Given the description of an element on the screen output the (x, y) to click on. 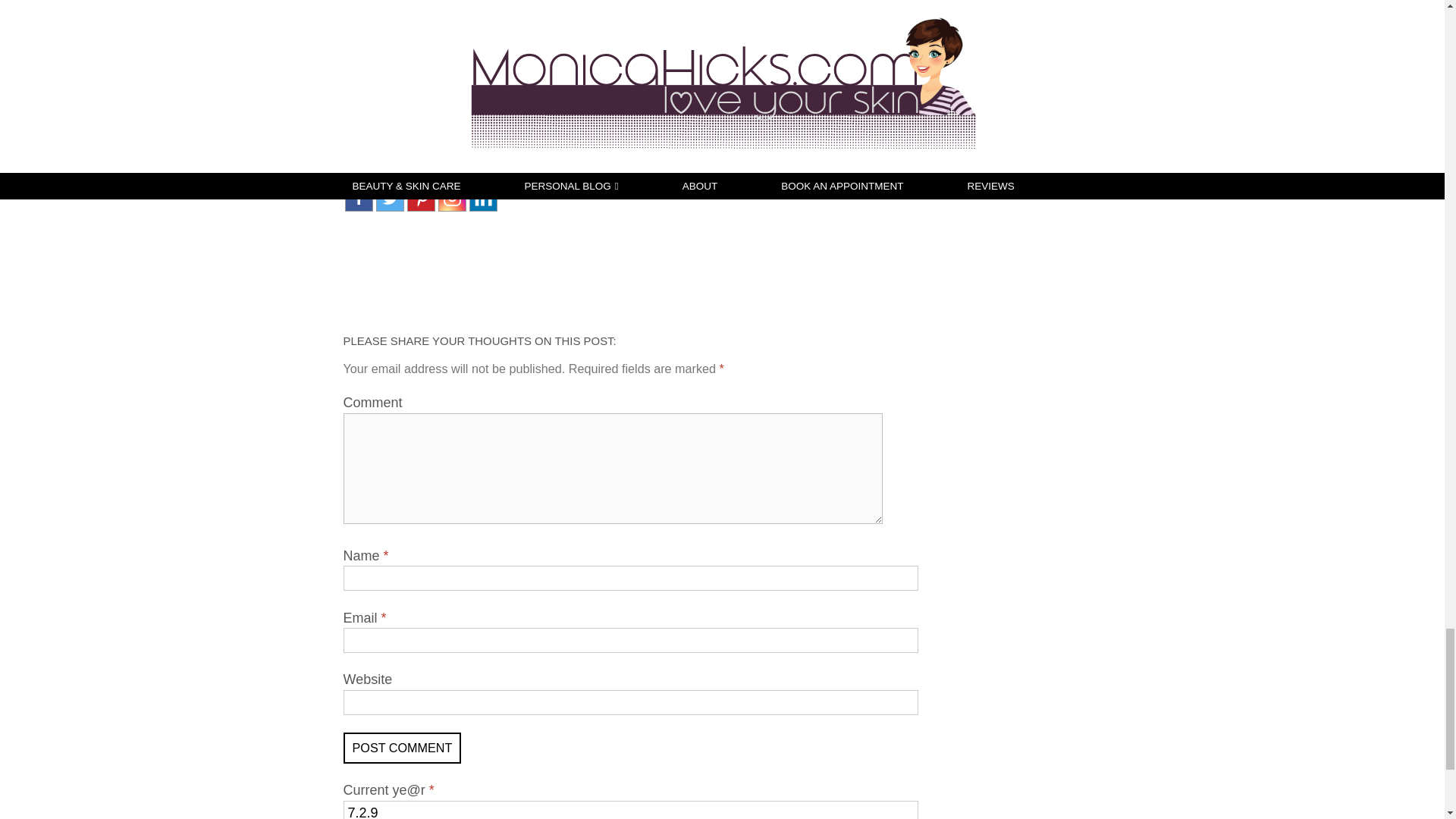
Facebook (357, 197)
How to Wear Animal Print (531, 112)
LinkedIn (482, 197)
Start to Finish: How I Do My Makeup (664, 118)
Pinterest (419, 197)
Twitter (389, 197)
Post Comment (401, 747)
How To Use Essential Oils In A Bath (399, 118)
Post Comment (401, 747)
Instagram (451, 197)
